Given the description of an element on the screen output the (x, y) to click on. 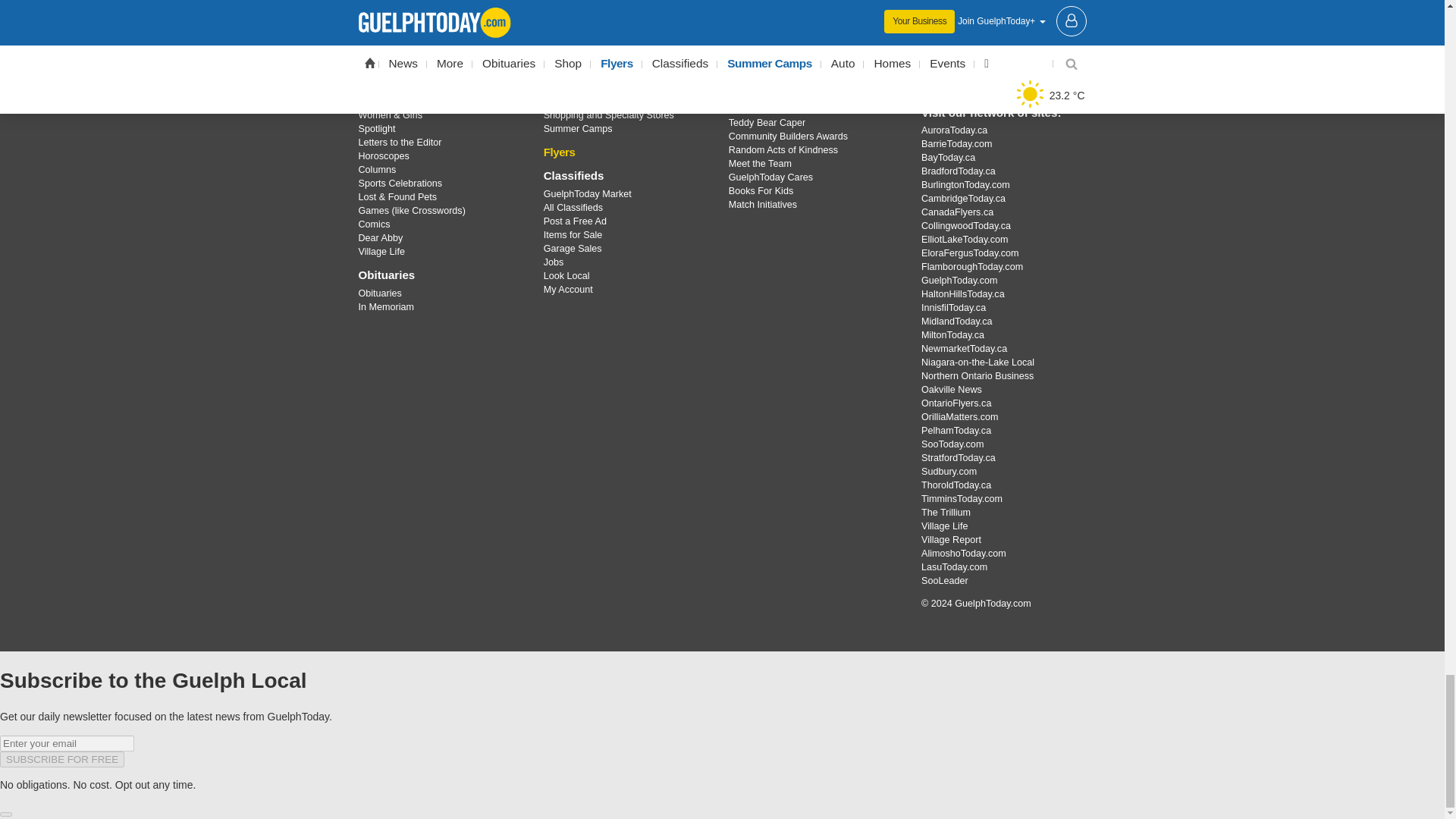
GuelphToday Cares (813, 105)
